Given the description of an element on the screen output the (x, y) to click on. 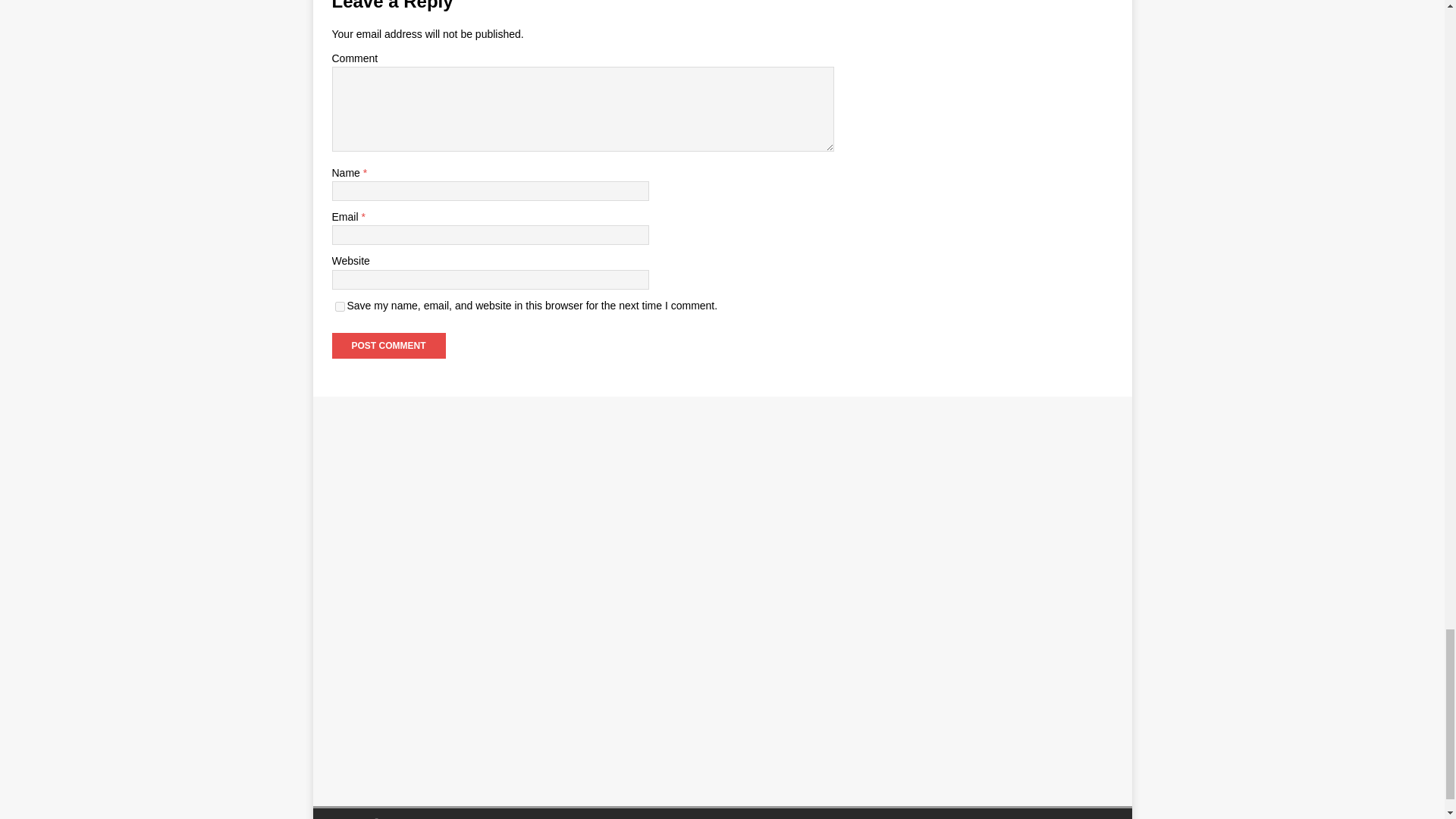
Post Comment (388, 345)
Post Comment (388, 345)
yes (339, 307)
